Given the description of an element on the screen output the (x, y) to click on. 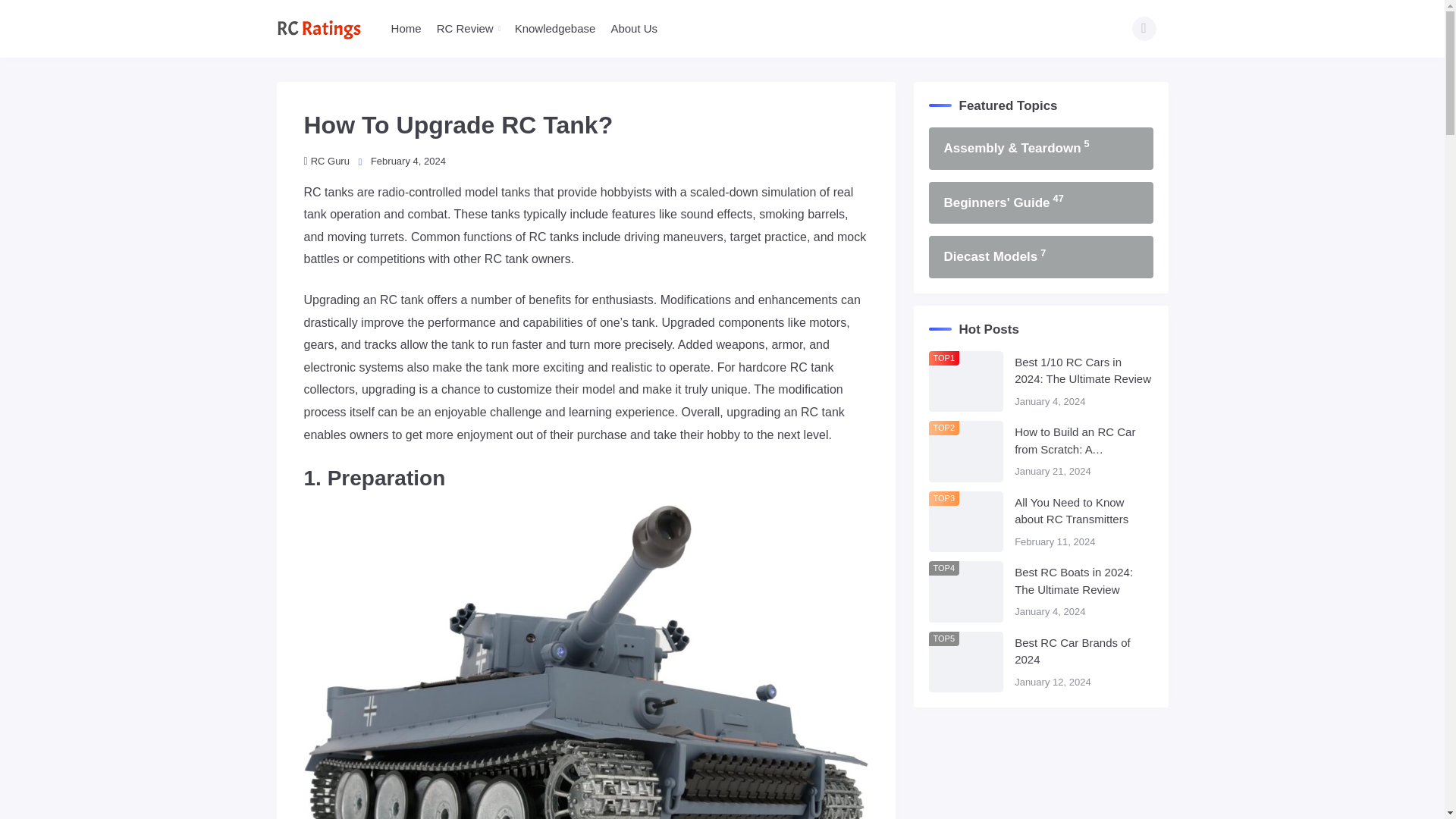
About Us (634, 28)
Beginners' Guide (1040, 202)
Diecast Models (1040, 256)
RC Review (464, 28)
Knowledgebase (555, 28)
RC Guru (325, 161)
